Given the description of an element on the screen output the (x, y) to click on. 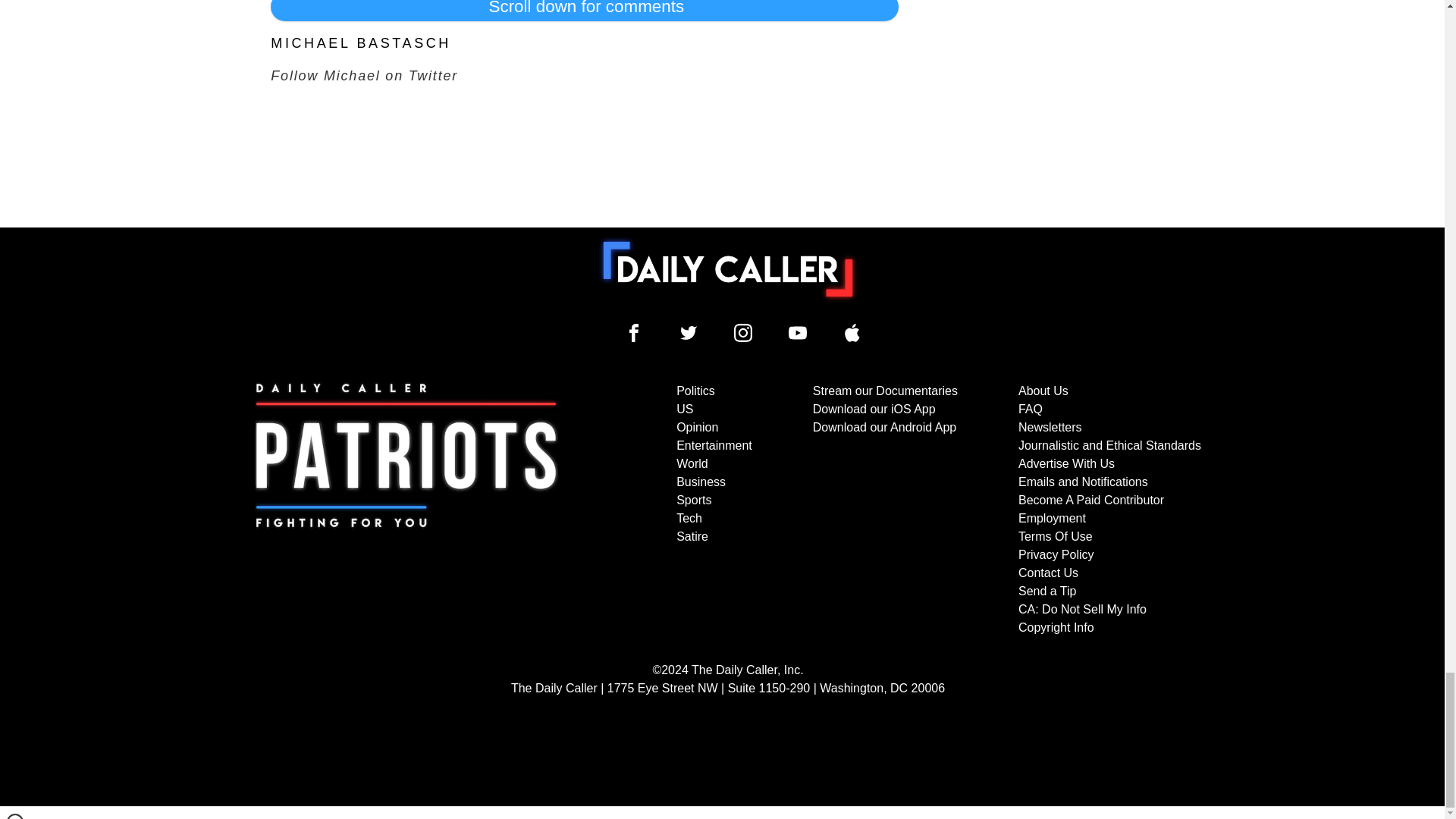
Subscribe to The Daily Caller (405, 509)
Daily Caller Twitter (688, 332)
Daily Caller Instagram (742, 332)
Daily Caller YouTube (852, 332)
Daily Caller Facebook (633, 332)
Daily Caller YouTube (797, 332)
To home page (727, 268)
Scroll down for comments (584, 10)
